Given the description of an element on the screen output the (x, y) to click on. 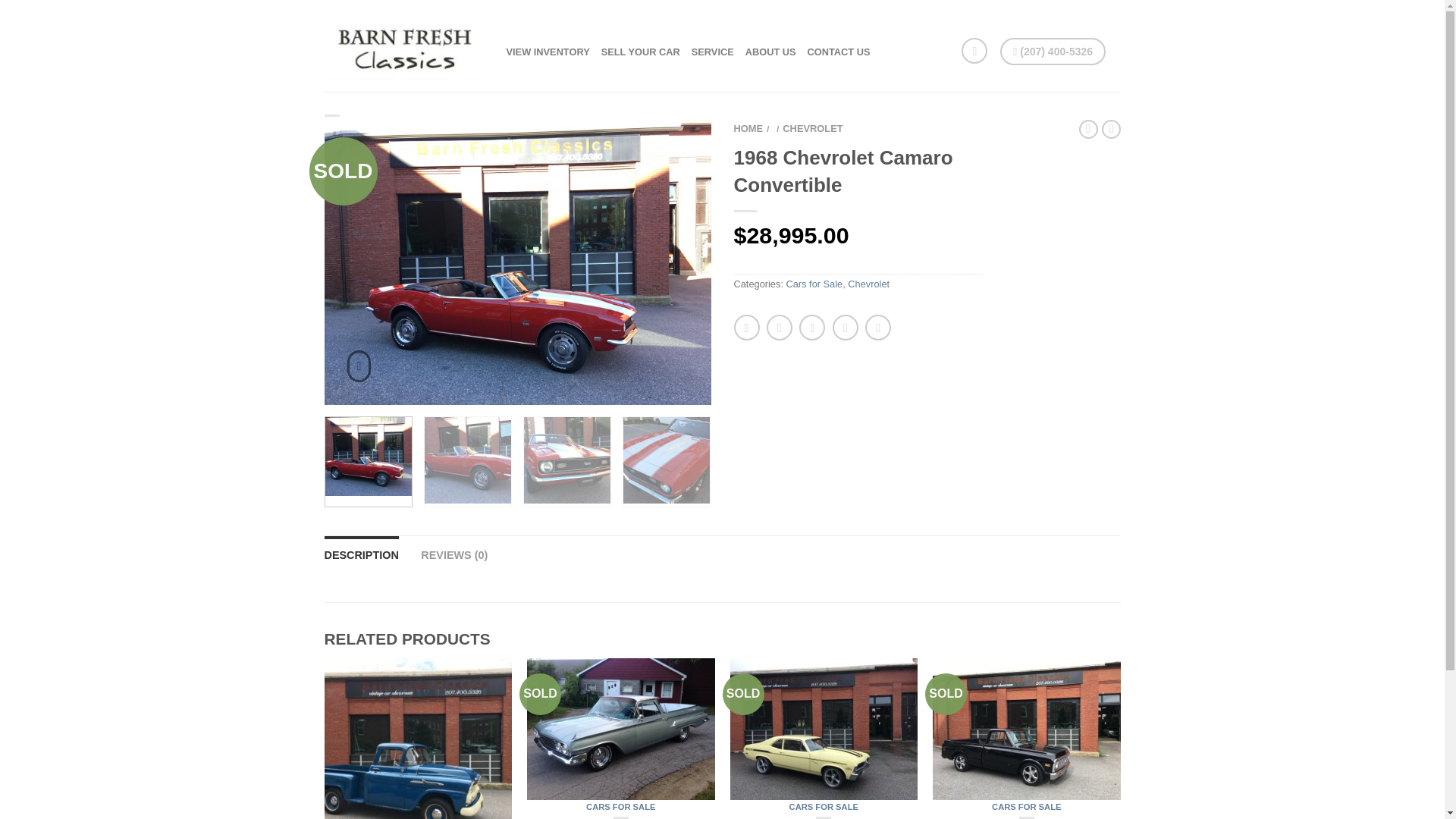
SERVICE (712, 51)
CONTACT US (839, 51)
HOME (747, 128)
VIEW INVENTORY (547, 51)
SELL YOUR CAR (640, 51)
ABOUT US (770, 51)
